Given the description of an element on the screen output the (x, y) to click on. 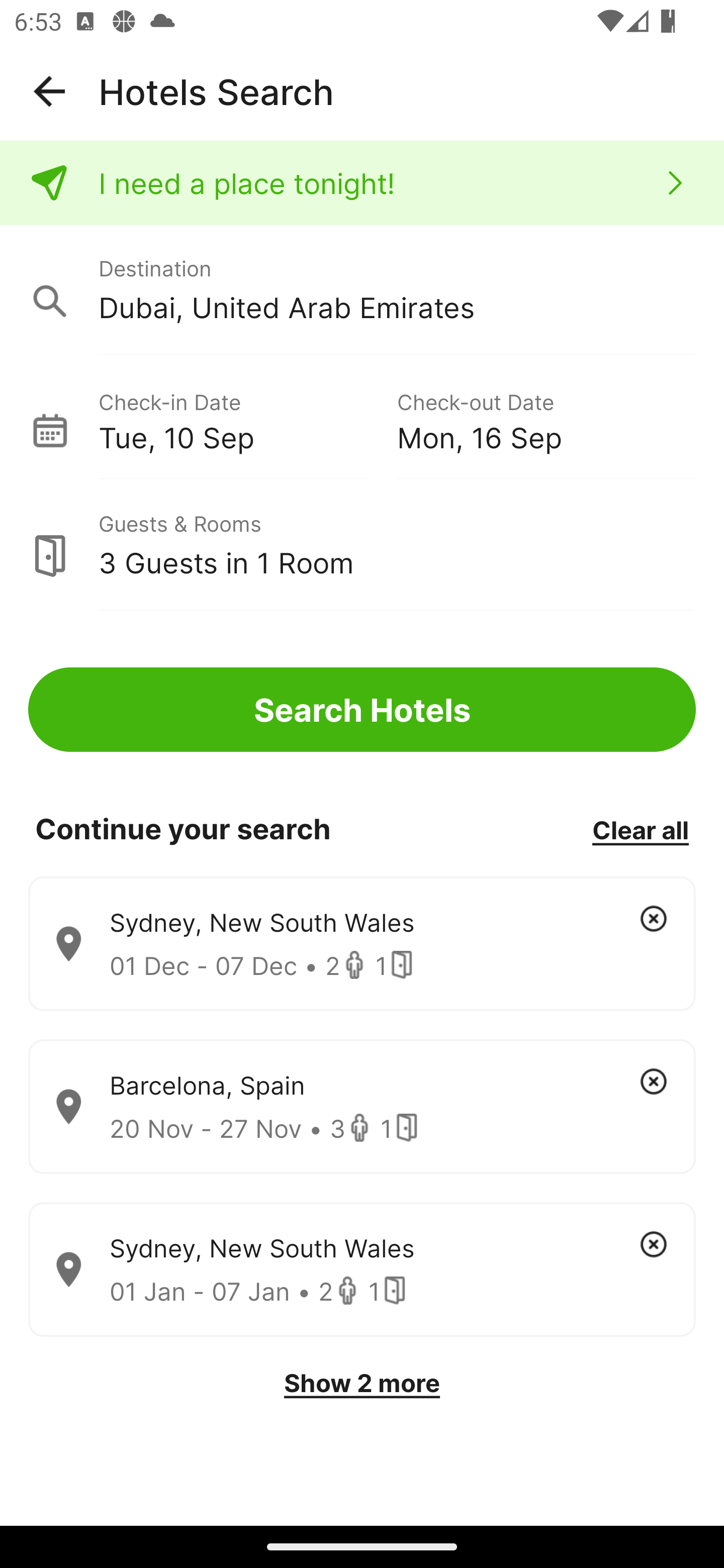
I need a place tonight! (362, 183)
Destination Dubai, United Arab Emirates (362, 290)
Check-in Date Tue, 10 Sep (247, 418)
Check-out Date Mon, 16 Sep (546, 418)
Guests & Rooms 3 Guests in 1 Room (362, 545)
Search Hotels (361, 709)
Clear all (640, 829)
Sydney, New South Wales 01 Dec - 07 Dec • 2  1  (361, 943)
Barcelona, Spain 20 Nov - 27 Nov • 3  1  (361, 1106)
Sydney, New South Wales 01 Jan - 07 Jan • 2  1  (361, 1269)
Show 2 more (362, 1382)
